Given the description of an element on the screen output the (x, y) to click on. 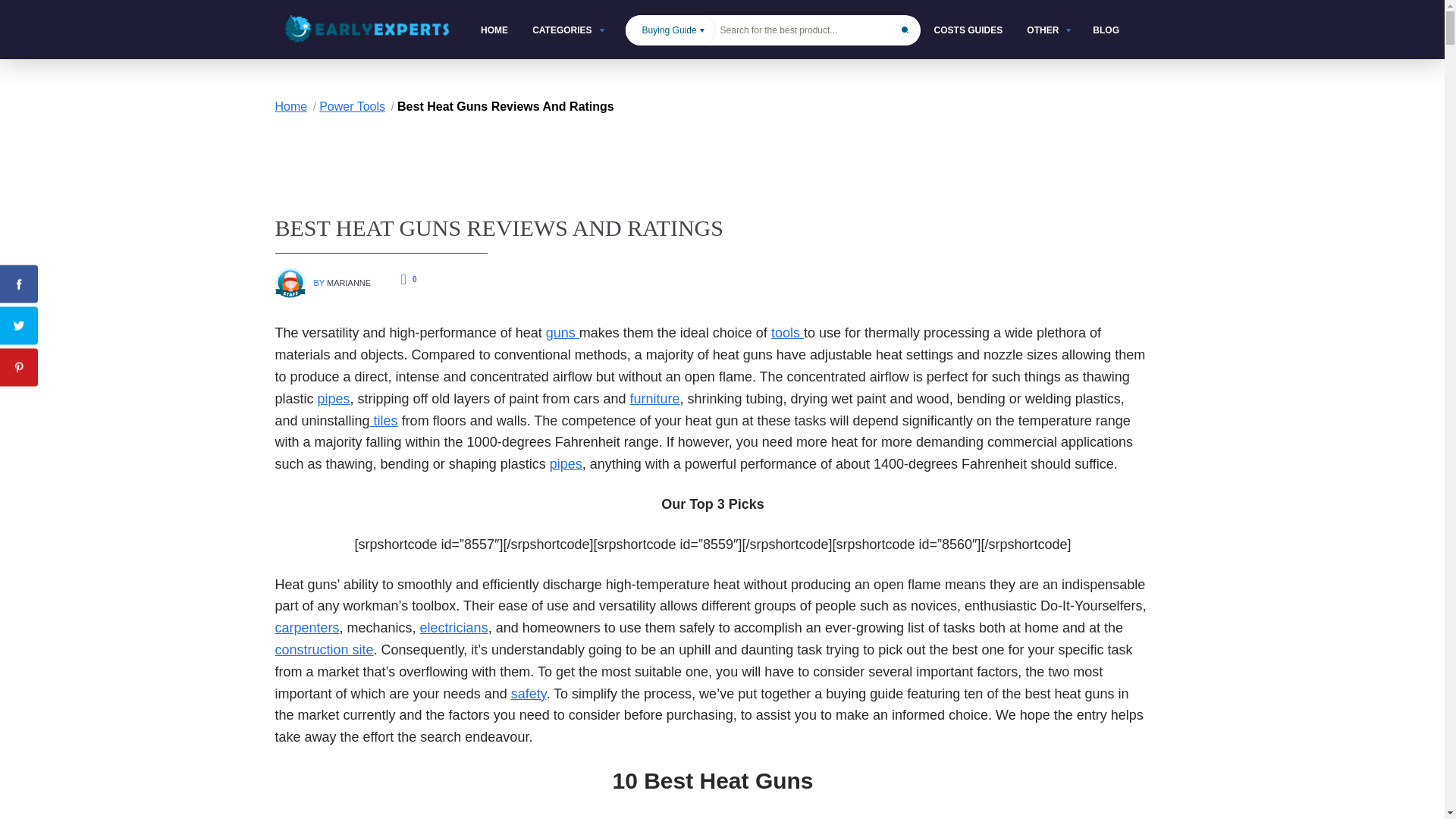
Power Tools (357, 106)
carpenters (307, 627)
Home (296, 106)
guns (562, 332)
EarlyExperts (366, 28)
furniture (653, 398)
tools (787, 332)
safety (529, 693)
CATEGORIES (566, 29)
electricians (453, 627)
tiles (383, 420)
HOME (493, 29)
COSTS GUIDES (967, 29)
OTHER (1047, 29)
pipes (333, 398)
